Given the description of an element on the screen output the (x, y) to click on. 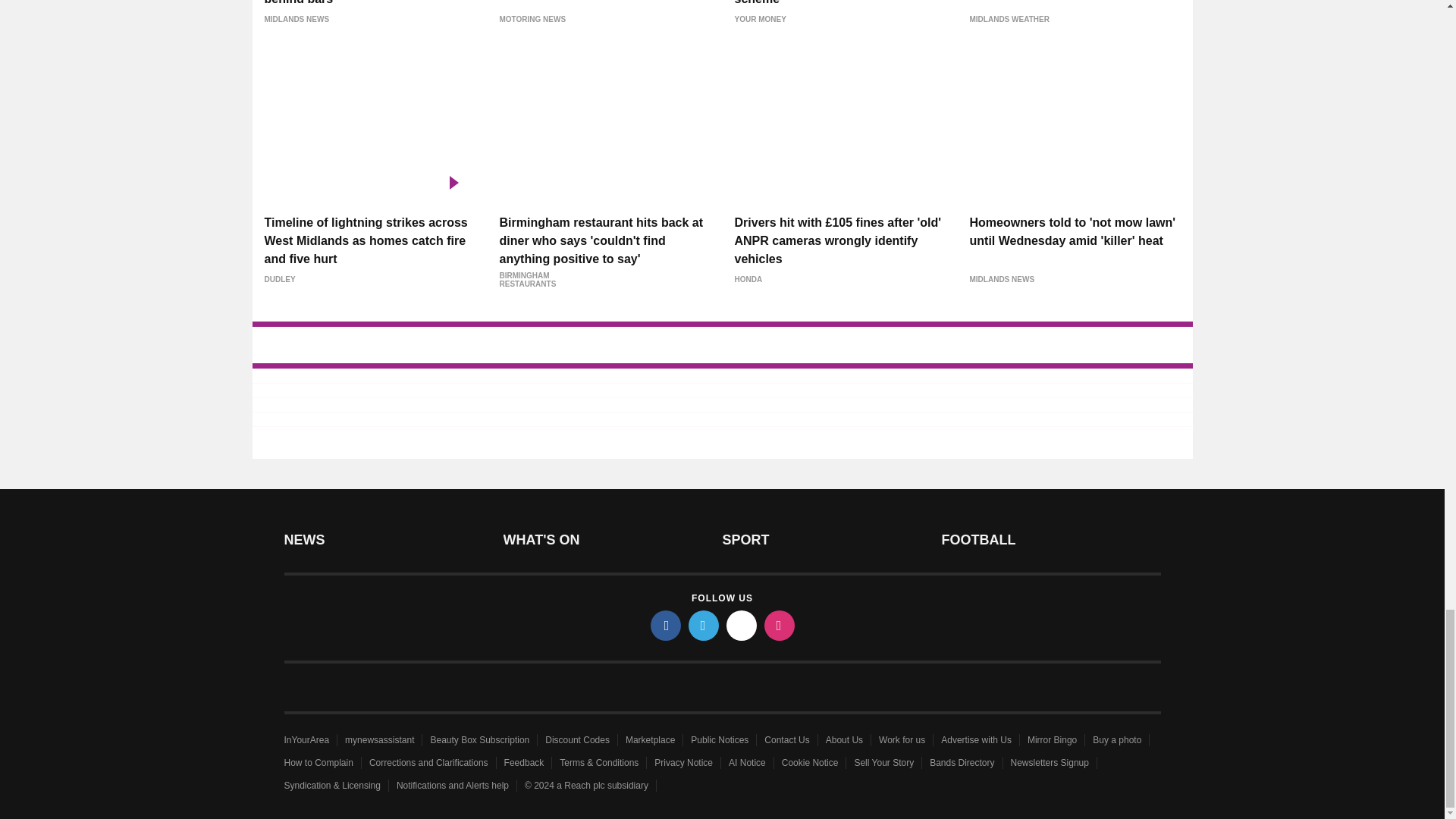
instagram (779, 625)
facebook (665, 625)
tiktok (741, 625)
twitter (703, 625)
